Given the description of an element on the screen output the (x, y) to click on. 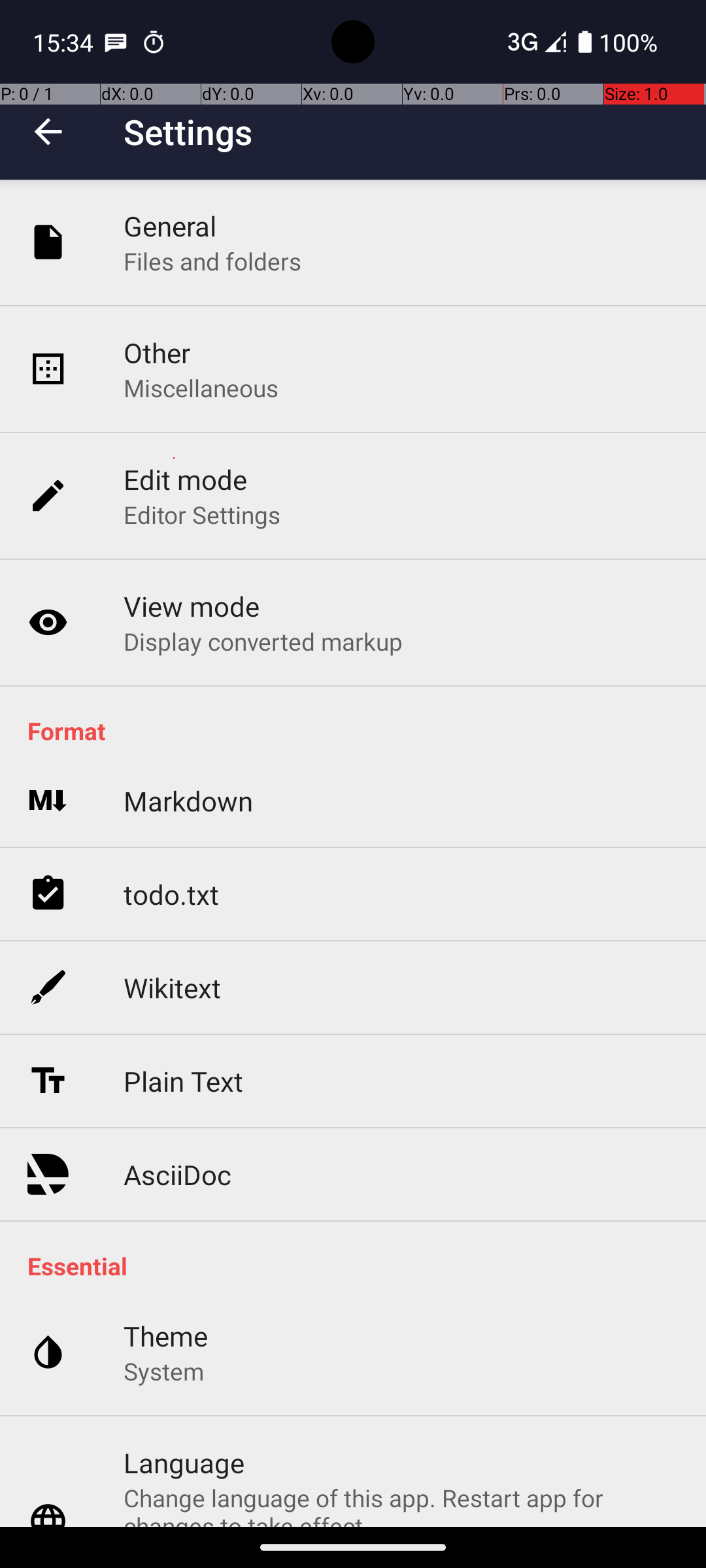
Essential Element type: android.widget.TextView (359, 1265)
General Element type: android.widget.TextView (170, 225)
Files and folders Element type: android.widget.TextView (212, 260)
Other Element type: android.widget.TextView (156, 352)
Miscellaneous Element type: android.widget.TextView (200, 387)
Editor Settings Element type: android.widget.TextView (202, 514)
Display converted markup Element type: android.widget.TextView (263, 640)
AsciiDoc Element type: android.widget.TextView (177, 1173)
Theme Element type: android.widget.TextView (165, 1335)
System Element type: android.widget.TextView (163, 1370)
Language Element type: android.widget.TextView (183, 1462)
Change language of this app. Restart app for changes to take effect

English (English, United States) Element type: android.widget.TextView (400, 1503)
